Given the description of an element on the screen output the (x, y) to click on. 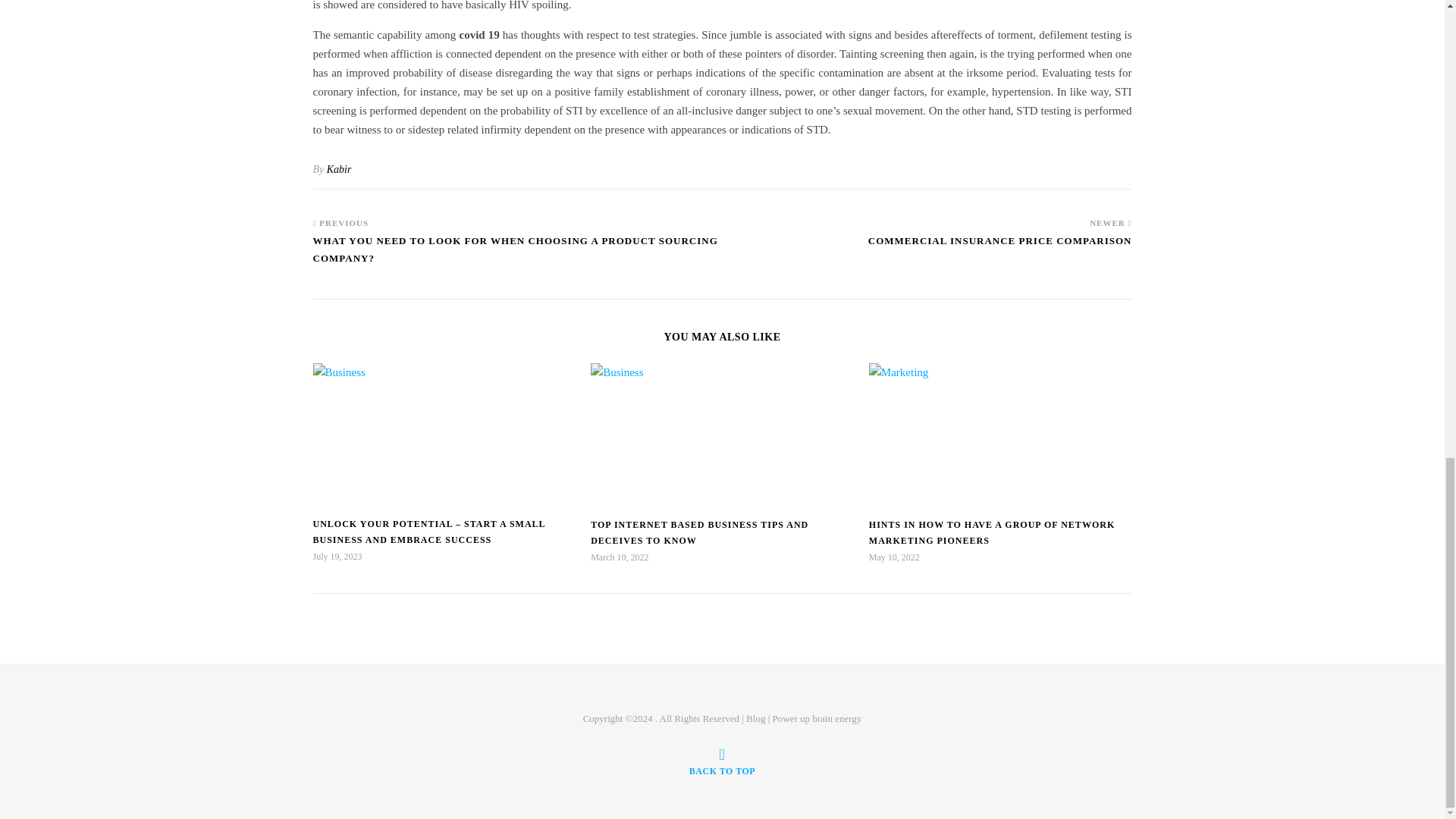
Posts by Kabir (339, 169)
TOP INTERNET BASED BUSINESS TIPS AND DECEIVES TO KNOW (699, 532)
COMMERCIAL INSURANCE PRICE COMPARISON (999, 247)
Kabir (339, 169)
HINTS IN HOW TO HAVE A GROUP OF NETWORK MARKETING PIONEERS (992, 532)
BACK TO TOP (722, 761)
Commercial insurance price comparison (999, 247)
